Given the description of an element on the screen output the (x, y) to click on. 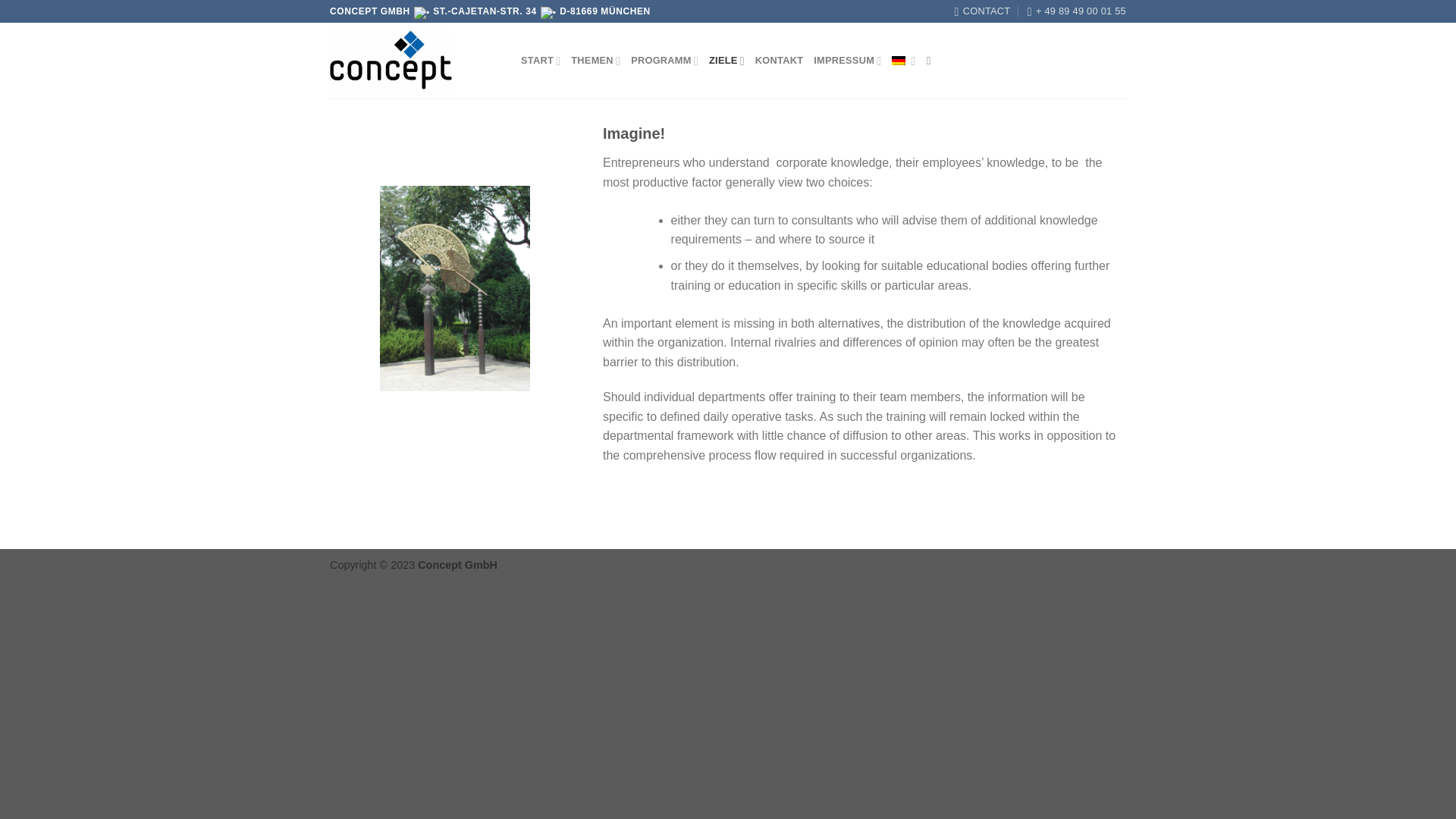
PROGRAMM (664, 60)
ZIELE (726, 60)
THEMEN (595, 60)
START (540, 60)
KONTAKT (779, 60)
CONTACT (982, 11)
IMPRESSUM (846, 60)
